Given the description of an element on the screen output the (x, y) to click on. 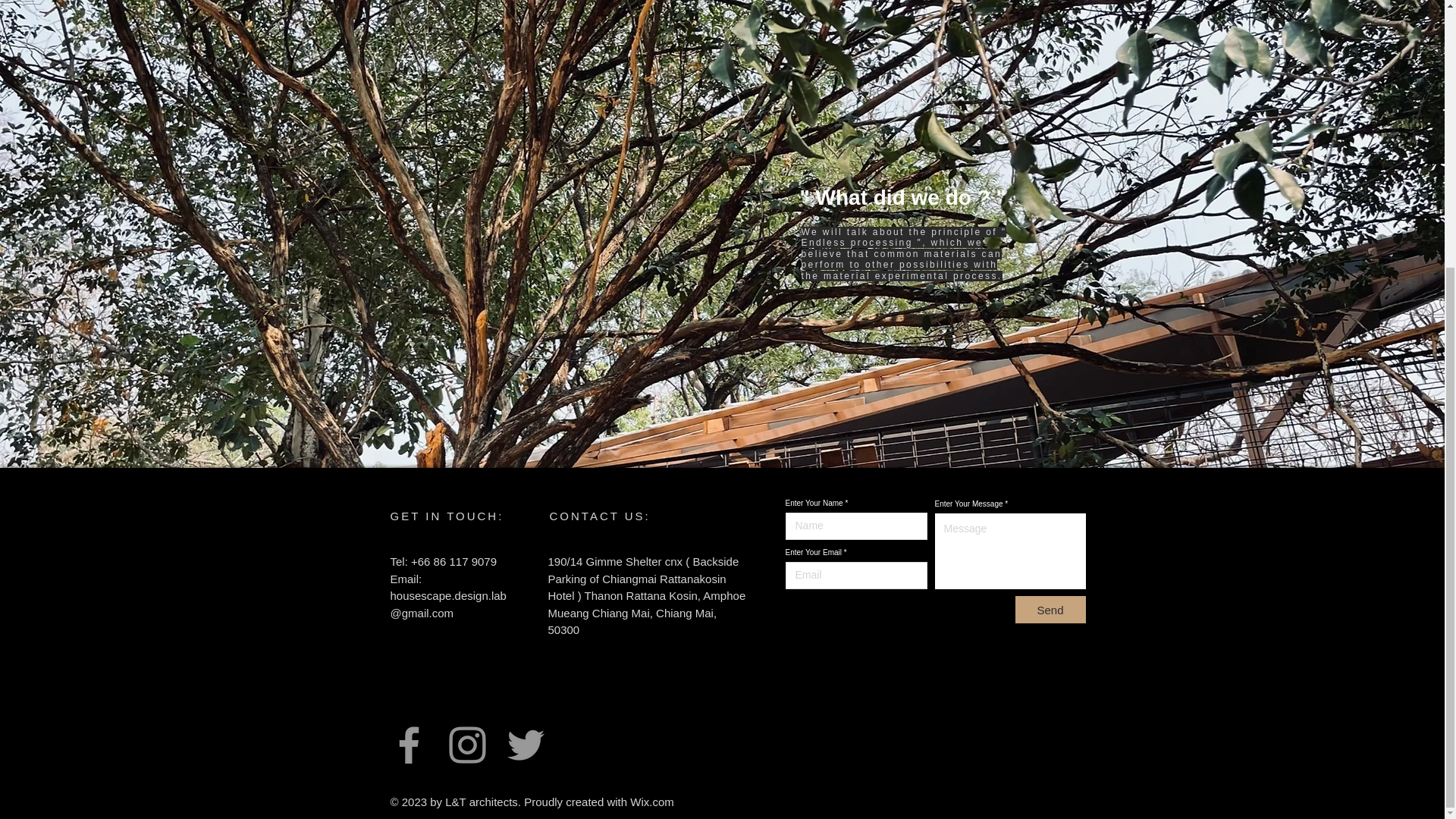
Send (1049, 609)
Wix.com (652, 801)
